Given the description of an element on the screen output the (x, y) to click on. 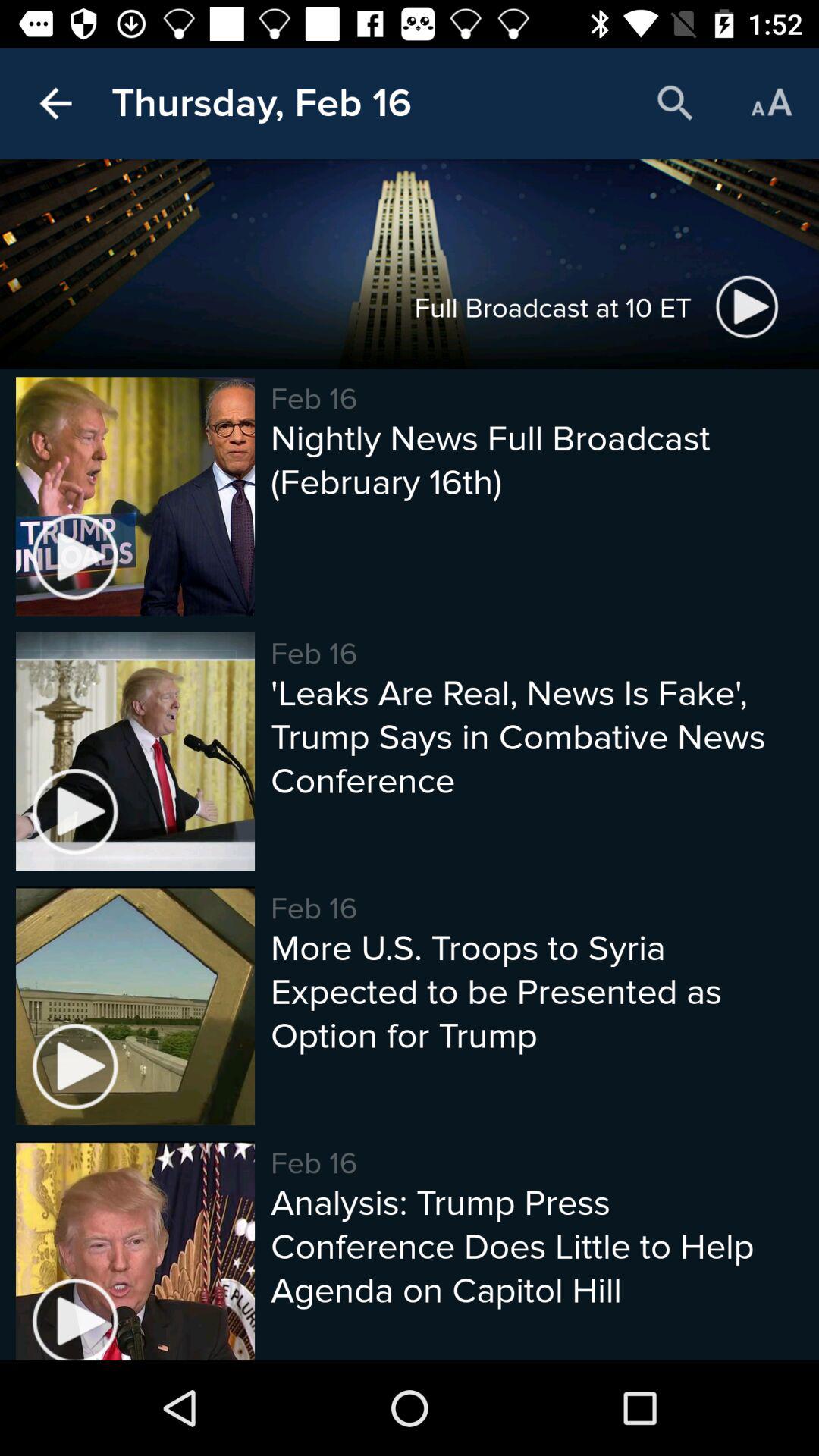
turn on the icon to the left of thursday, feb 16 (55, 103)
